Given the description of an element on the screen output the (x, y) to click on. 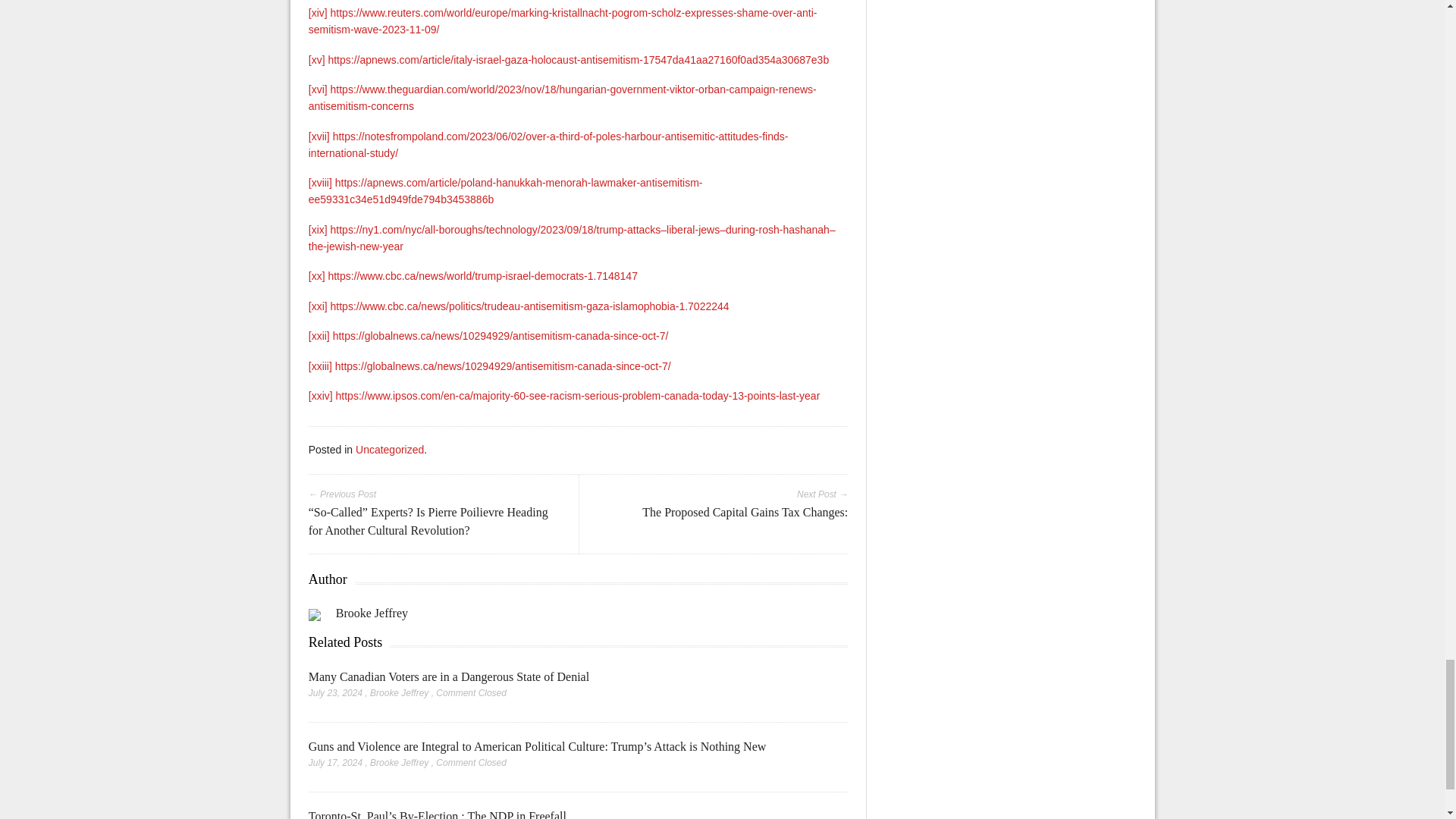
Posts by Brooke Jeffrey (398, 762)
Posts by Brooke Jeffrey (371, 612)
Posts by Brooke Jeffrey (398, 692)
Many Canadian Voters are in a Dangerous State of Denial (448, 676)
